Given the description of an element on the screen output the (x, y) to click on. 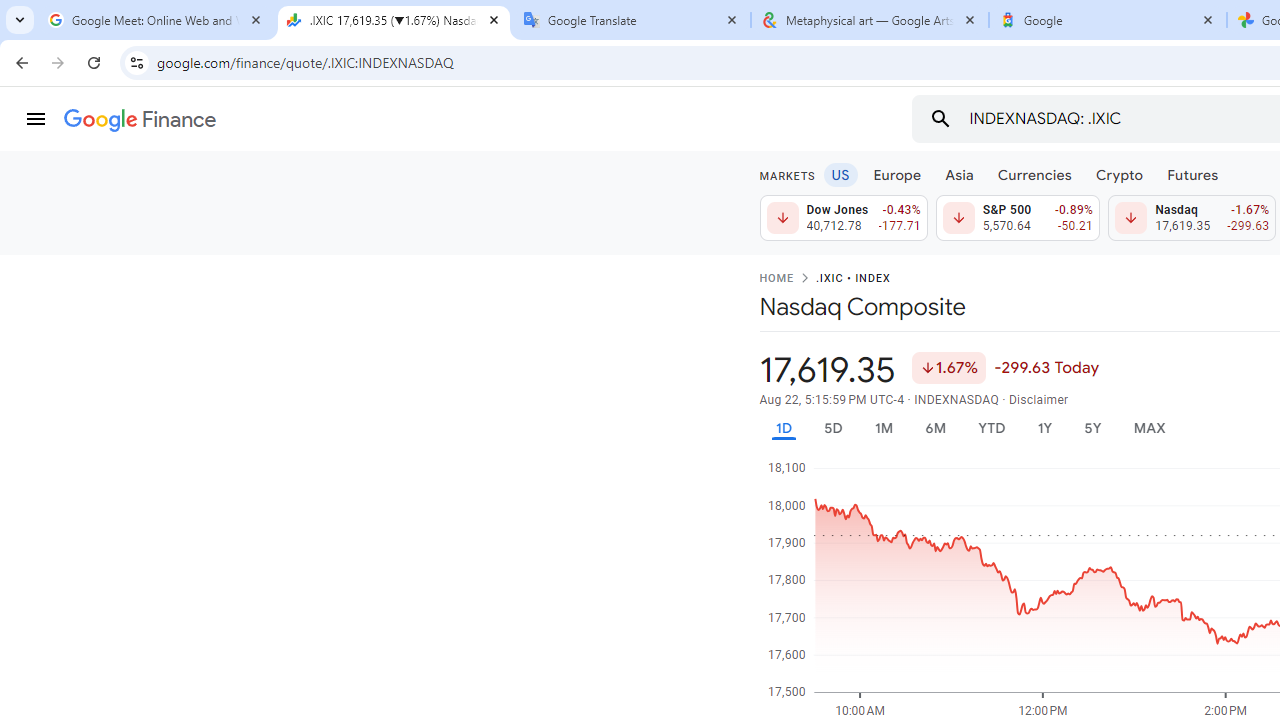
1Y (1044, 427)
HOME (776, 279)
Dow Jones 40,712.78 Down by 0.43% -177.71 (843, 218)
Asia (958, 174)
5Y (1092, 427)
Europe (897, 174)
Crypto (1119, 174)
1M (882, 427)
5D (832, 427)
S&P 500 5,570.64 Down by 0.89% -50.21 (1017, 218)
1D (783, 427)
